Given the description of an element on the screen output the (x, y) to click on. 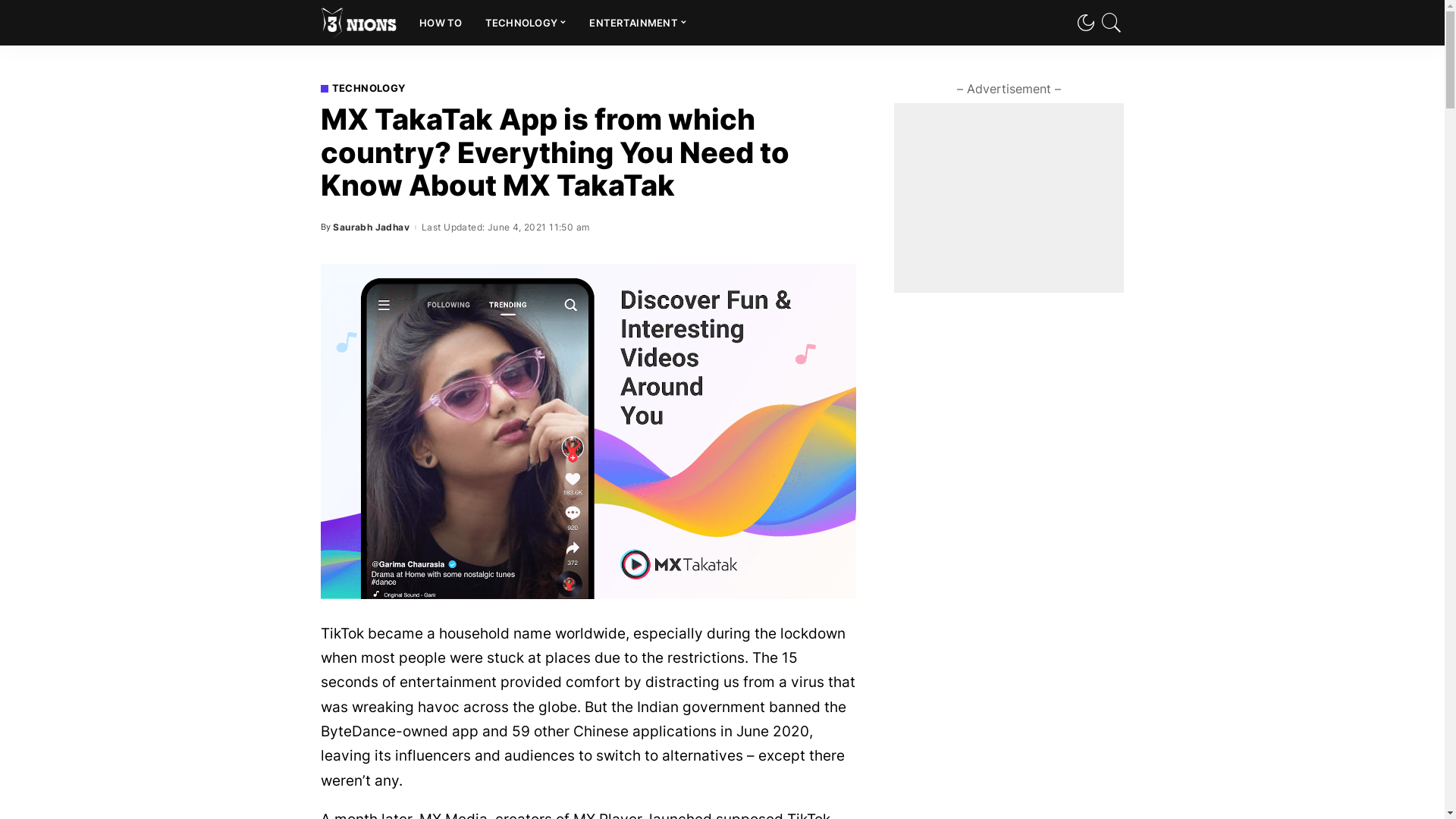
HOW TO Element type: text (440, 22)
TECHNOLOGY Element type: text (525, 22)
Advertisement Element type: hover (1008, 197)
Search Element type: text (1102, 65)
TECHNOLOGY Element type: text (362, 88)
Saurabh Jadhav Element type: text (370, 227)
ENTERTAINMENT Element type: text (637, 22)
3nions Element type: hover (358, 22)
